Given the description of an element on the screen output the (x, y) to click on. 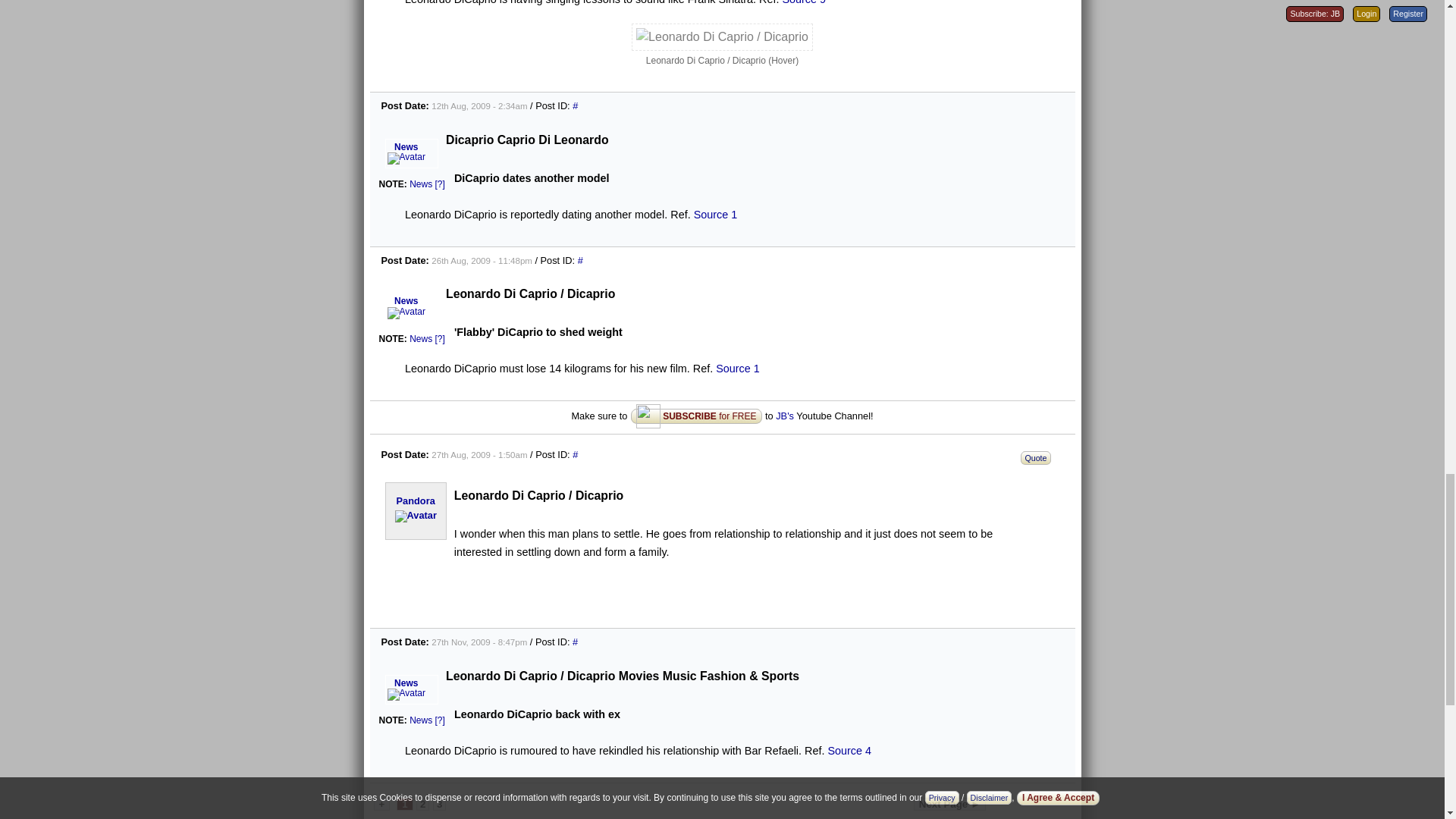
Jump to page... (381, 802)
